Given the description of an element on the screen output the (x, y) to click on. 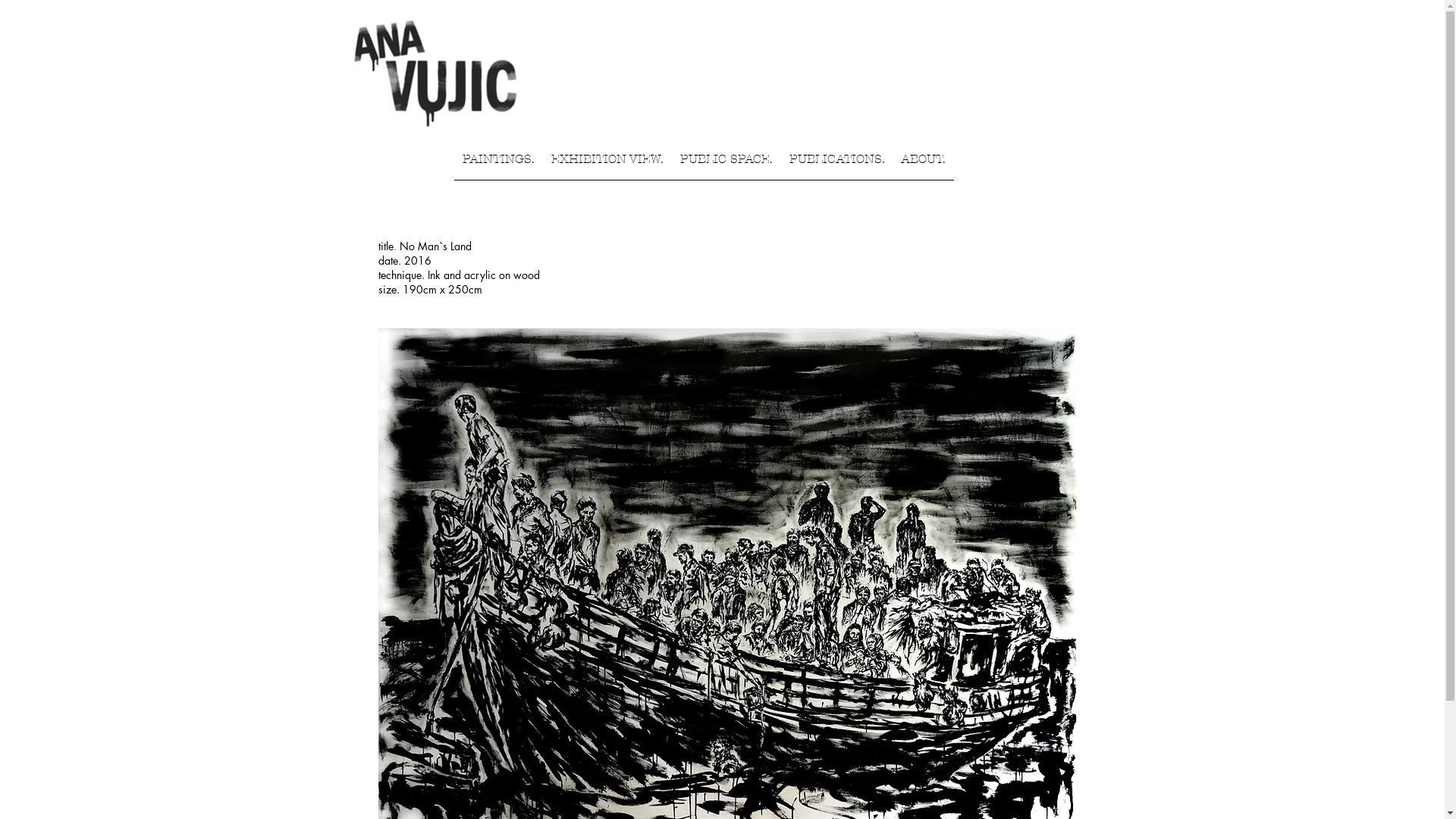
ABOUT. Element type: text (923, 163)
PUBLIC SPACE. Element type: text (726, 163)
EXHIBITION VIEW. Element type: text (606, 163)
PUBLICATIONS. Element type: text (837, 163)
PAINTINGS. Element type: text (497, 163)
